Given the description of an element on the screen output the (x, y) to click on. 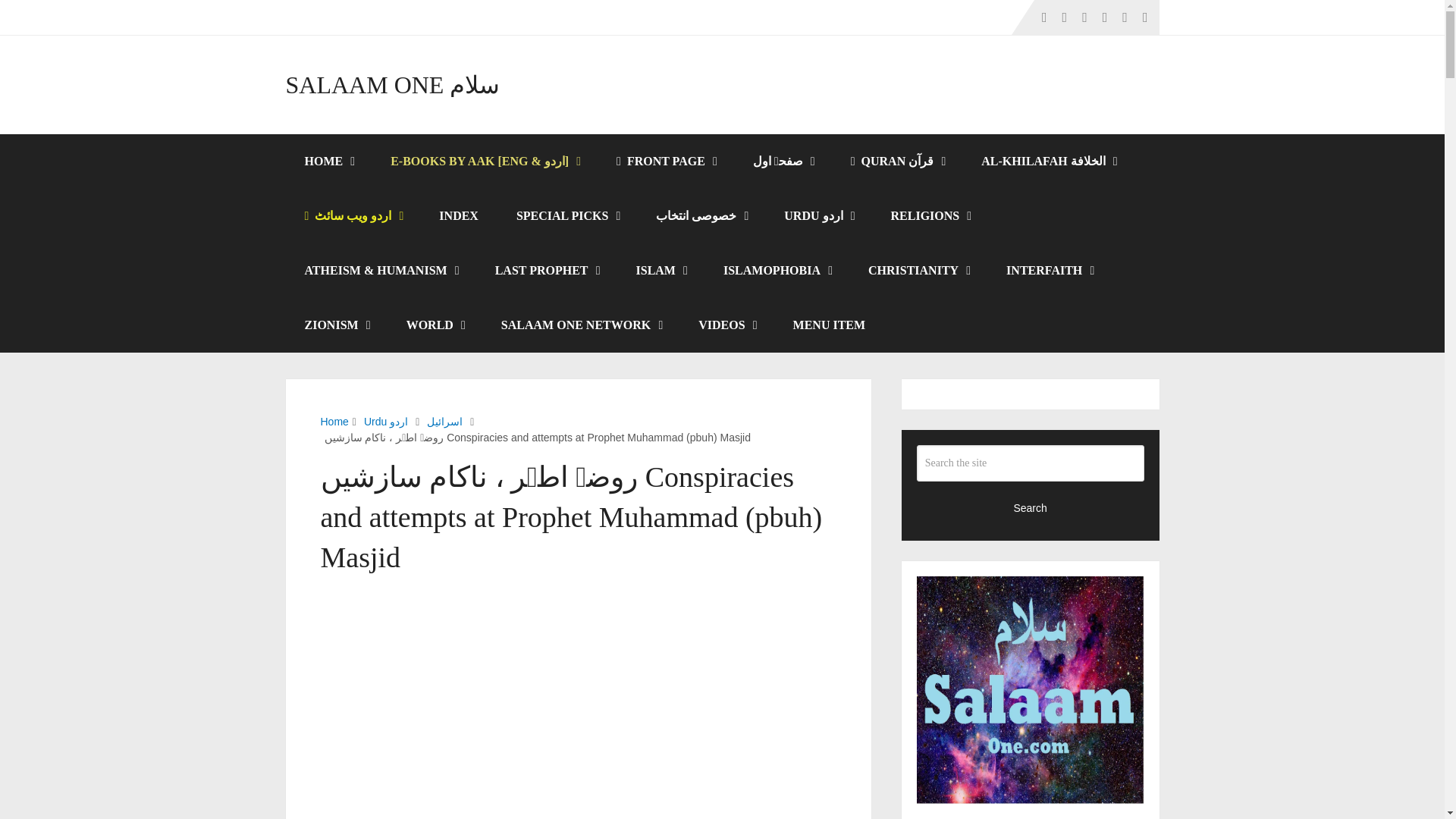
HOME (328, 161)
FRONT PAGE (664, 161)
